Given the description of an element on the screen output the (x, y) to click on. 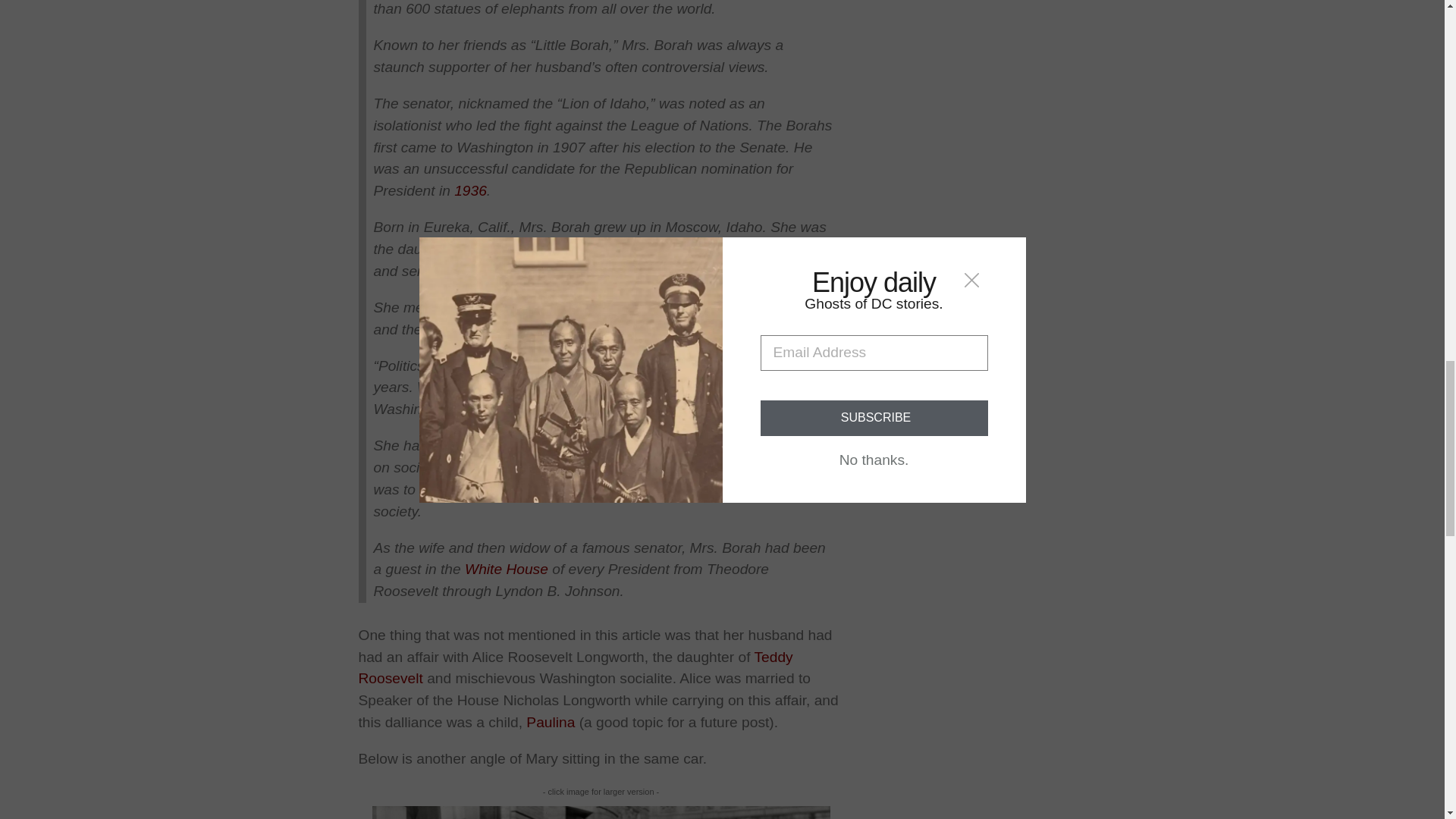
Click for larger version (600, 812)
Washington DC in the 1930s (470, 190)
